Given the description of an element on the screen output the (x, y) to click on. 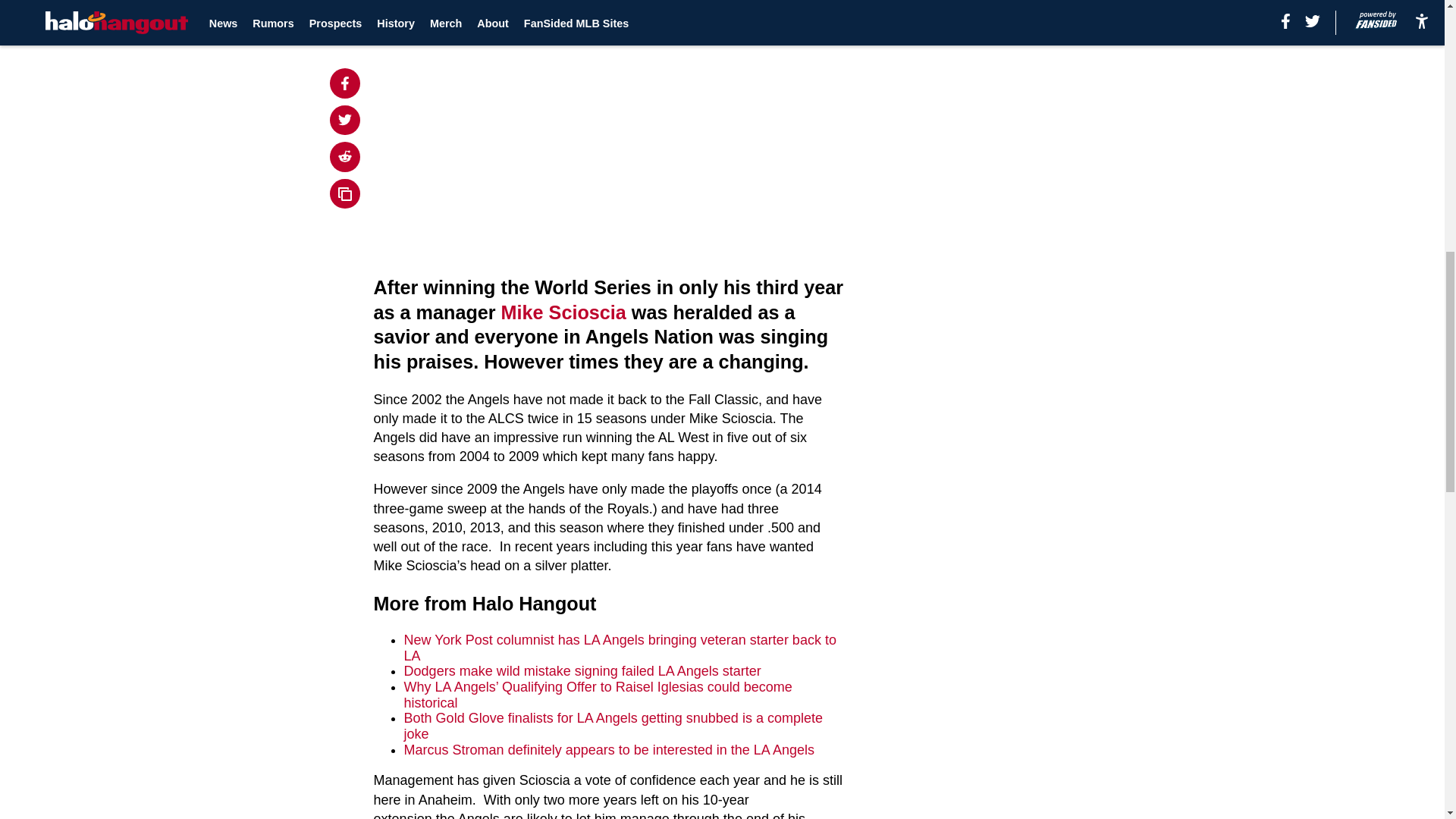
Dodgers make wild mistake signing failed LA Angels starter (582, 670)
Mike Scioscia (563, 312)
